Given the description of an element on the screen output the (x, y) to click on. 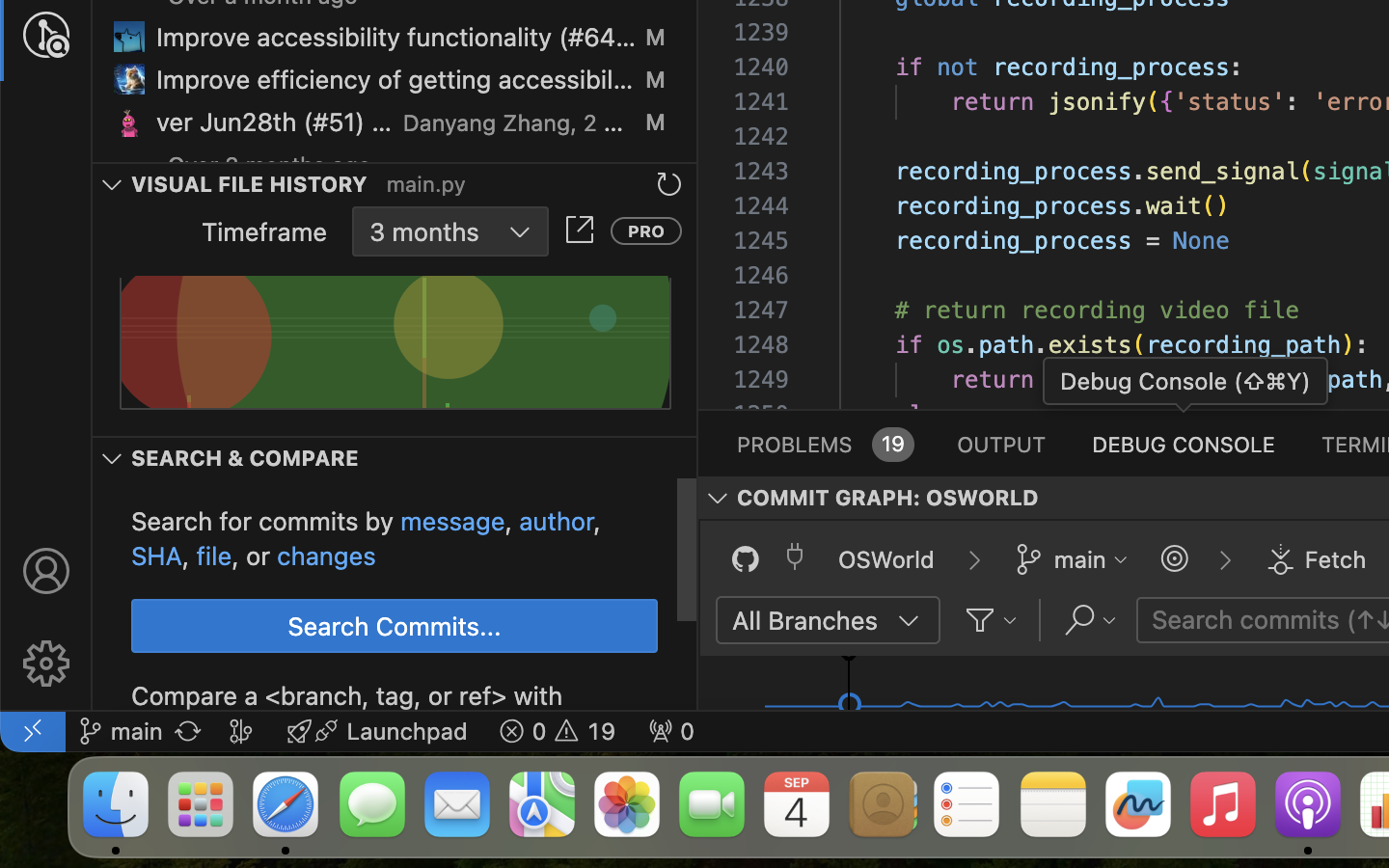
 Element type: AXStaticText (579, 229)
 Element type: AXGroup (46, 663)
Search for commits by Element type: AXStaticText (266, 521)
0 DEBUG CONSOLE Element type: AXRadioButton (1183, 443)
